Given the description of an element on the screen output the (x, y) to click on. 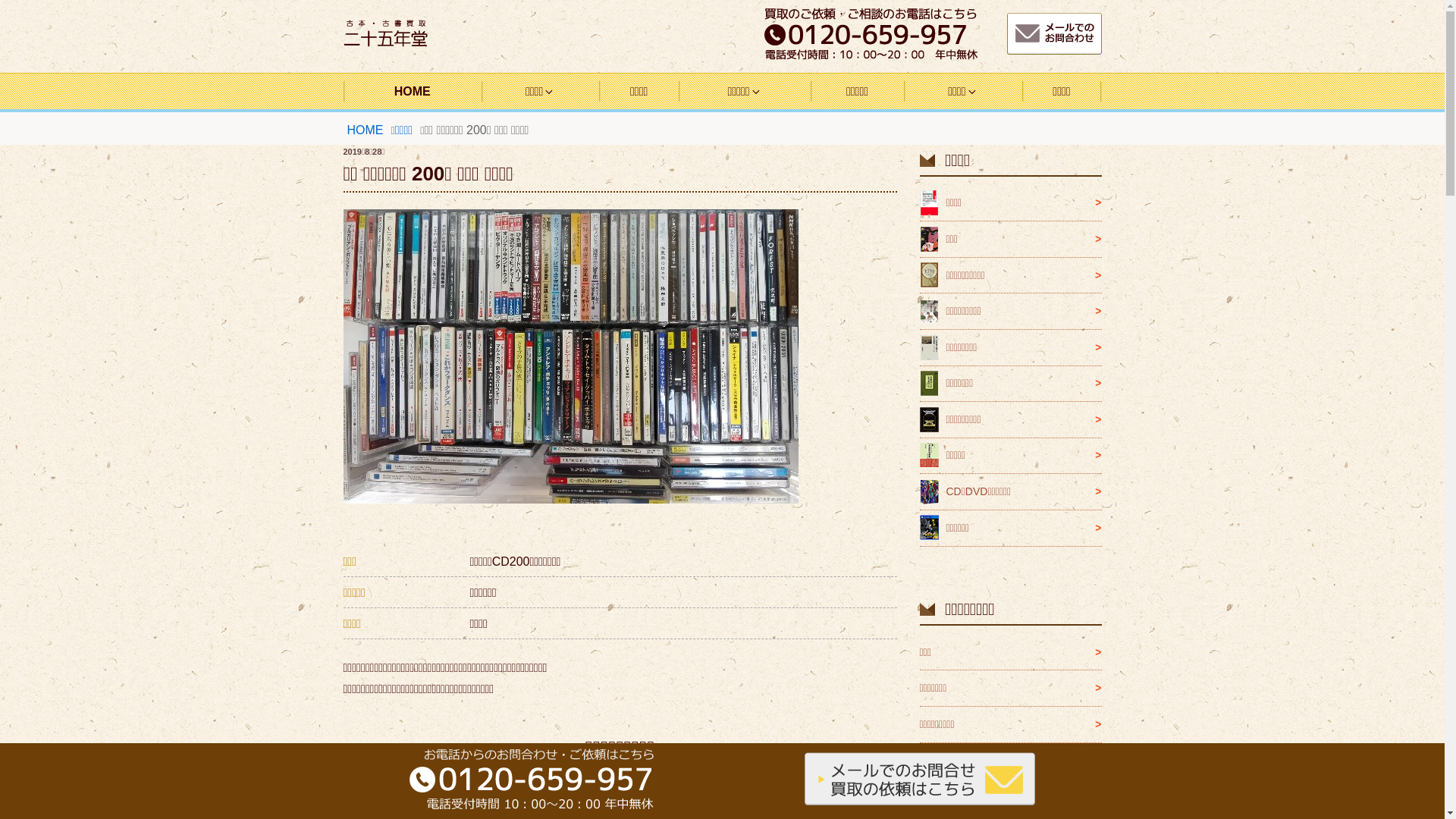
HOME Element type: text (411, 91)
HOME Element type: text (365, 129)
